Given the description of an element on the screen output the (x, y) to click on. 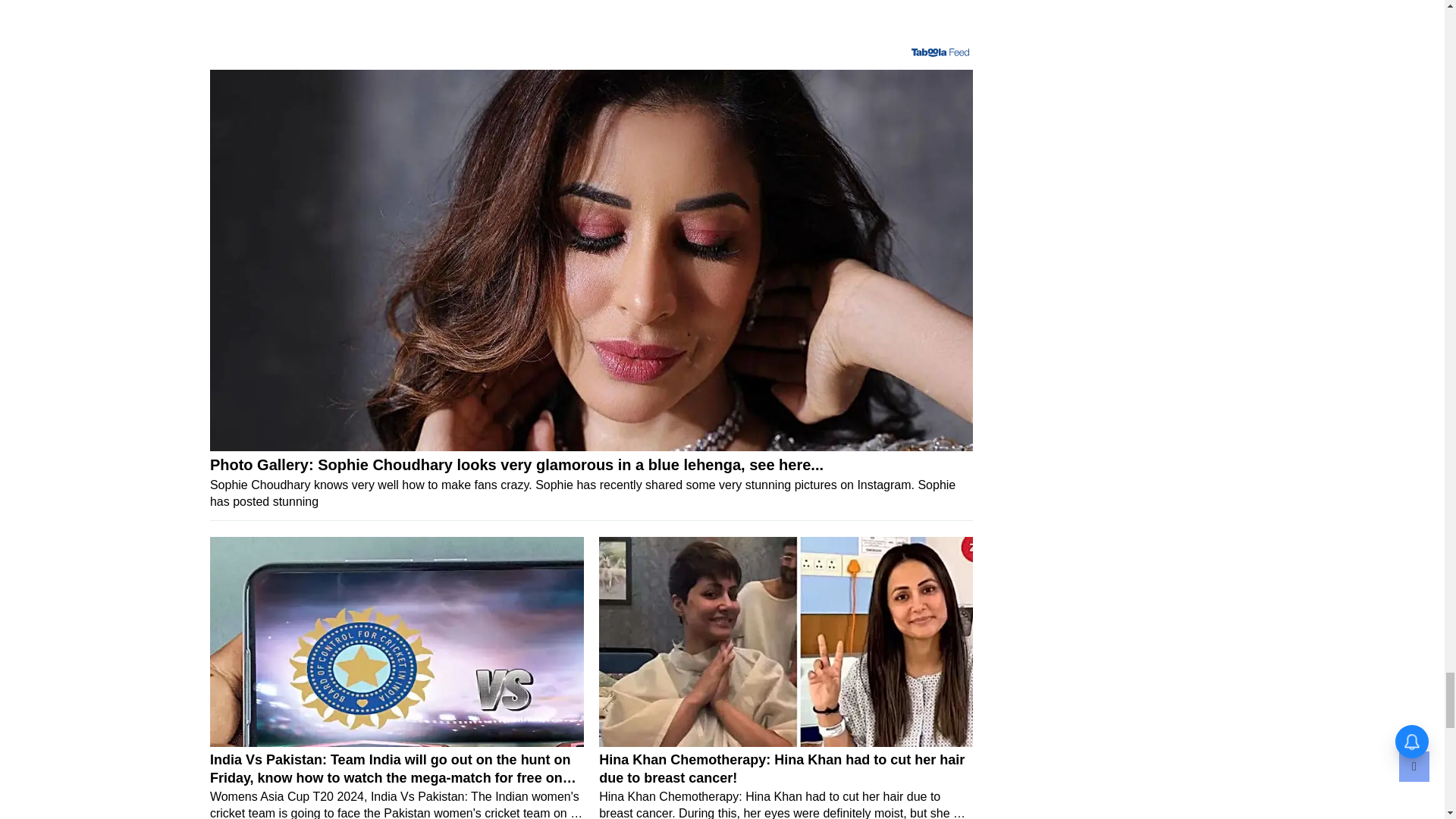
YouTube video player (590, 18)
